Given the description of an element on the screen output the (x, y) to click on. 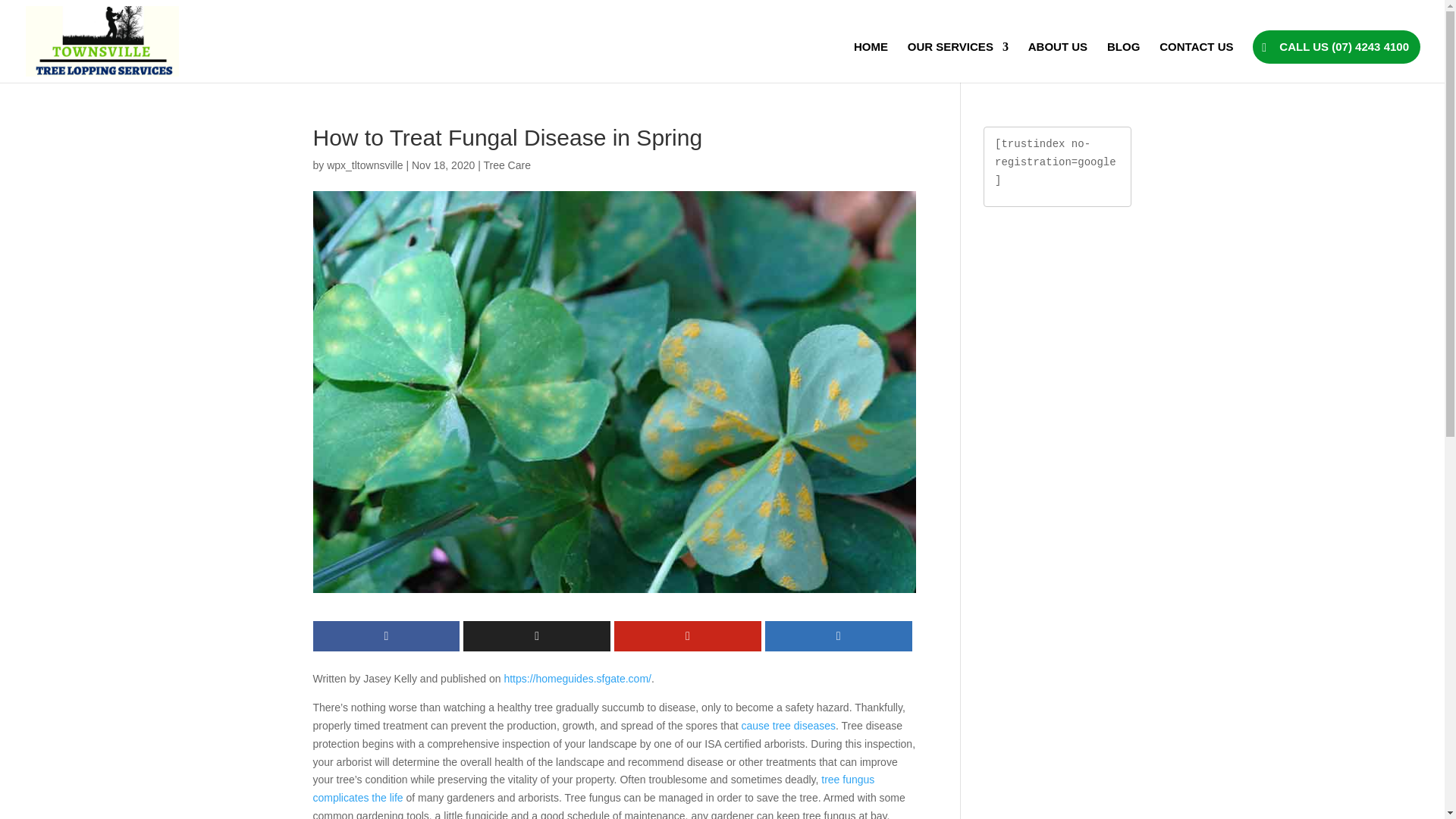
tree fungus complicates the life (594, 788)
CONTACT US (1195, 61)
cause tree diseases (788, 725)
Tree Care (507, 164)
OUR SERVICES (958, 61)
ABOUT US (1057, 61)
